Given the description of an element on the screen output the (x, y) to click on. 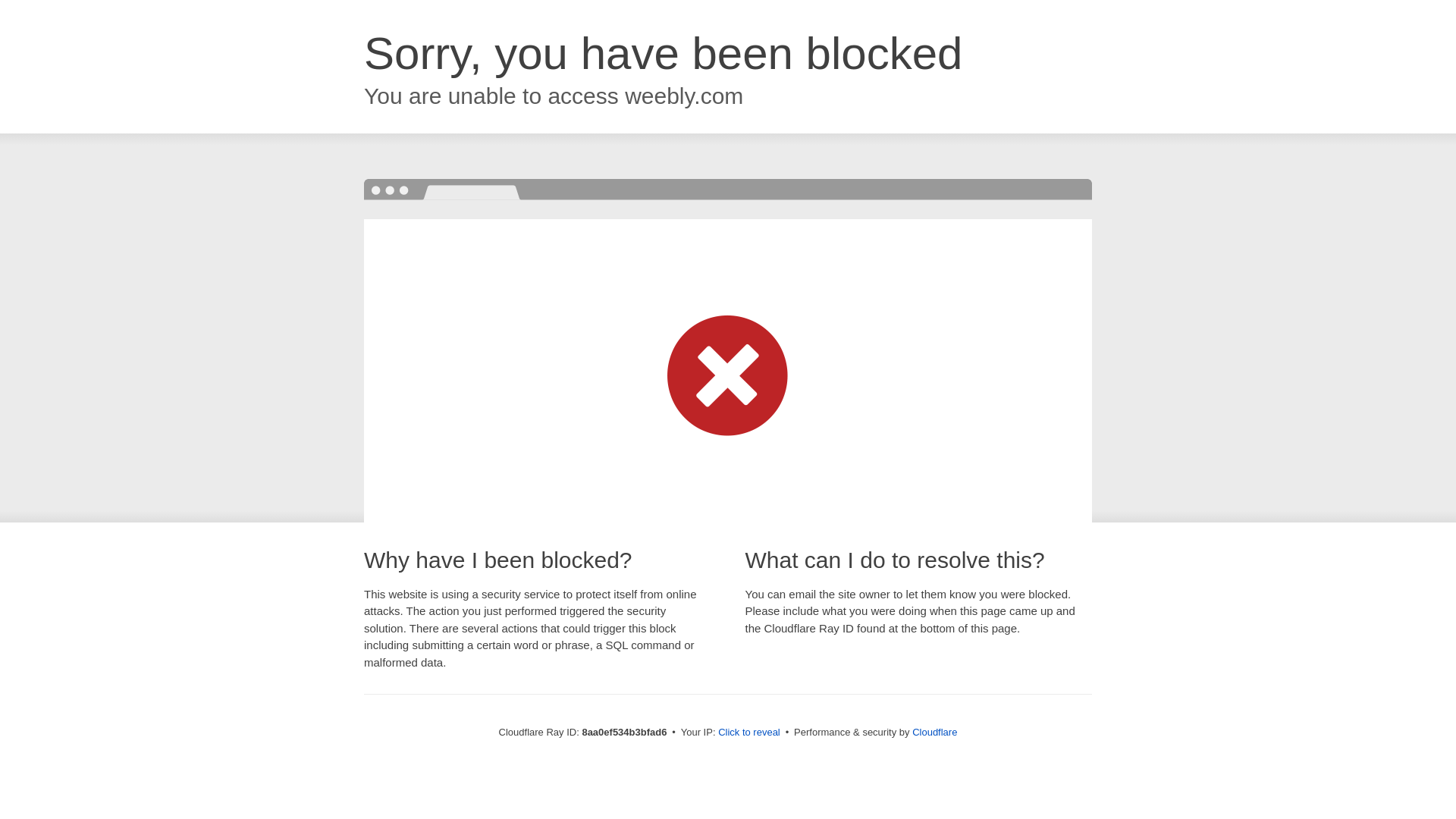
Cloudflare (934, 731)
Click to reveal (748, 732)
